Given the description of an element on the screen output the (x, y) to click on. 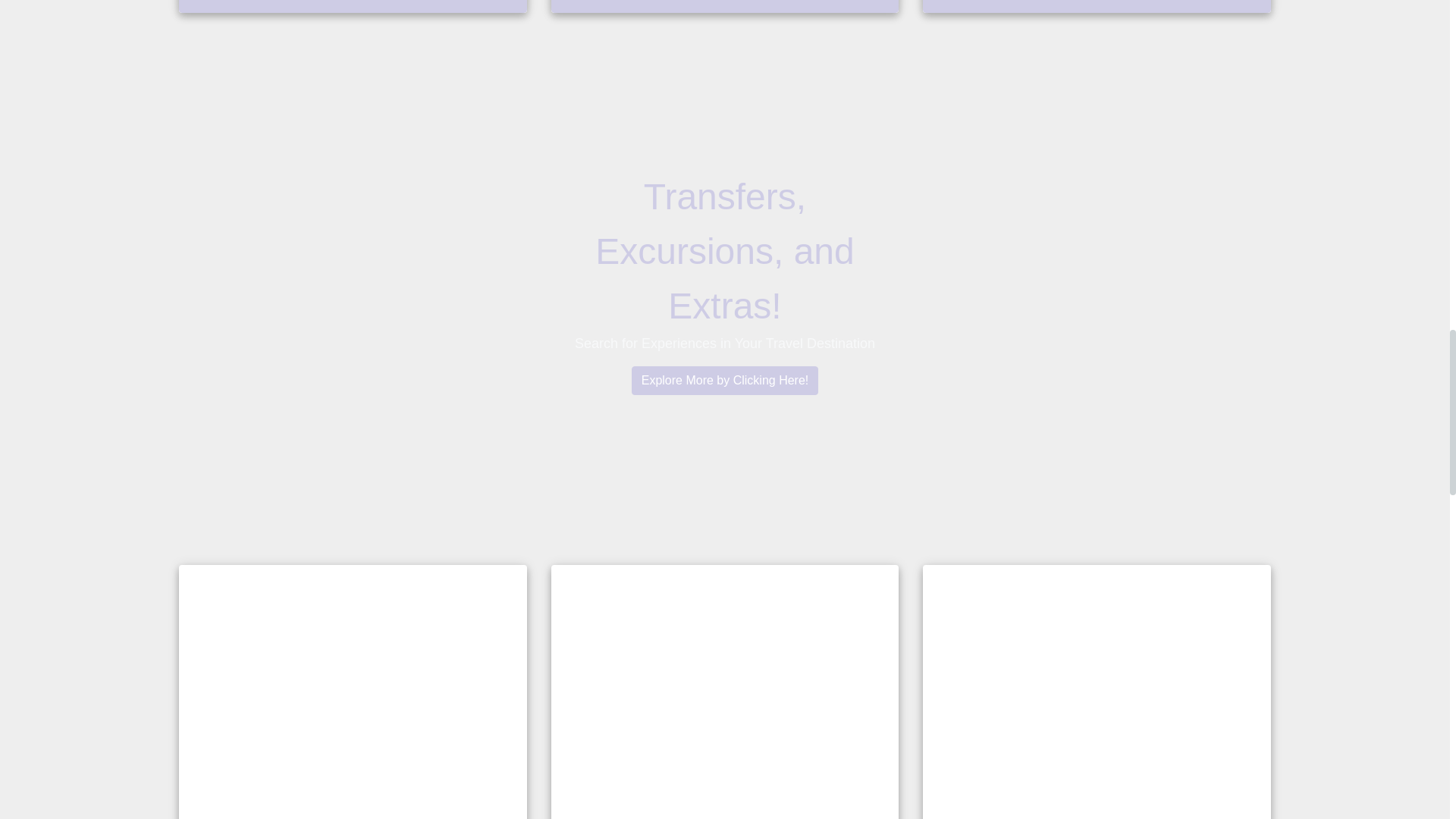
Learn More (725, 6)
Learn More (1097, 6)
Explore More by Clicking Here! (724, 380)
Learn More (353, 6)
